Given the description of an element on the screen output the (x, y) to click on. 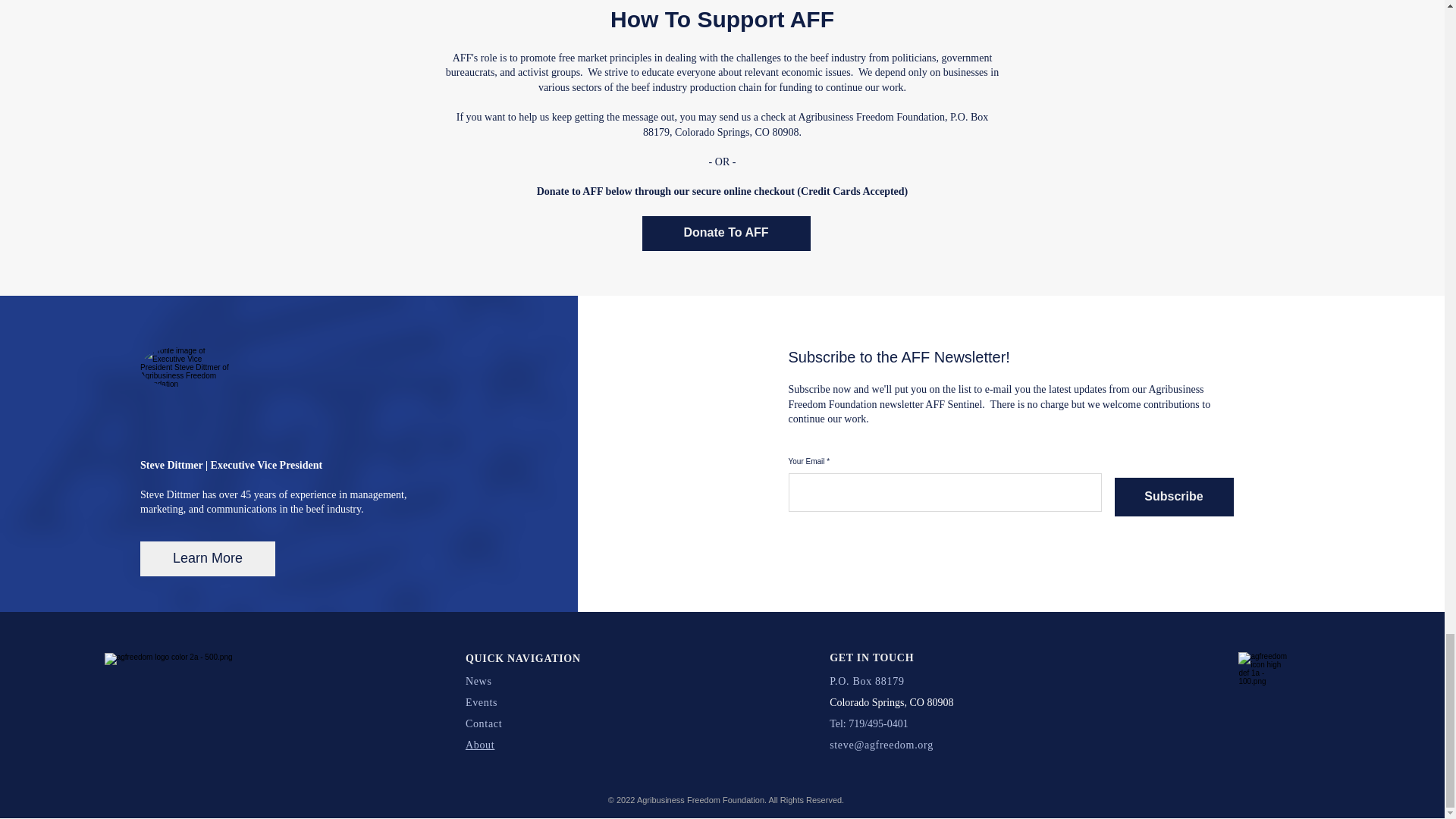
Donate To AFF (725, 233)
Subscribe (1174, 496)
About (480, 745)
Contact (483, 723)
Learn More (207, 558)
News (478, 681)
Events (481, 702)
